Given the description of an element on the screen output the (x, y) to click on. 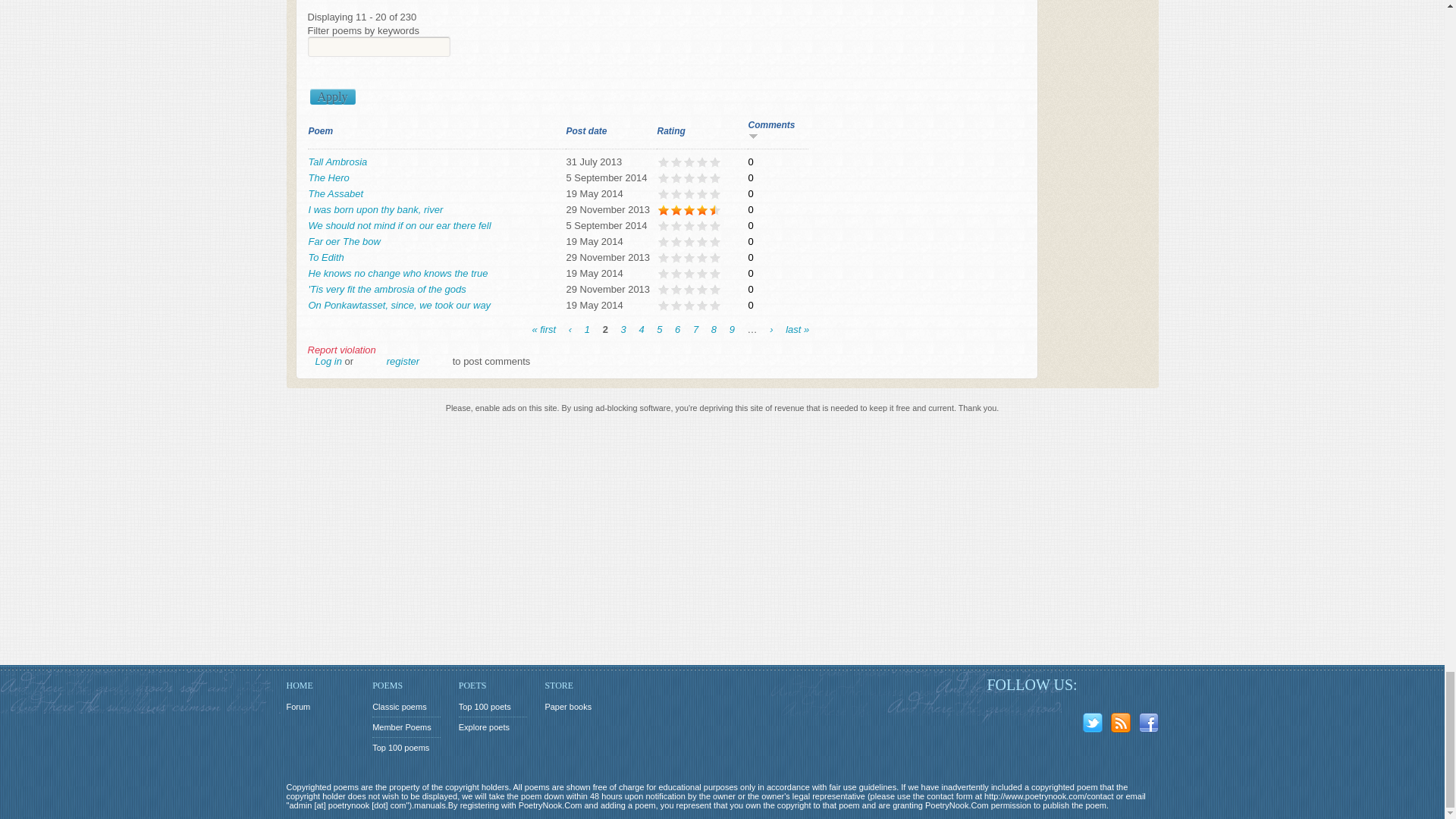
8 (713, 328)
sort by Post date (586, 131)
3 (623, 328)
Poem (320, 131)
sort by Poem (320, 131)
We should not mind if on our ear there fell (398, 225)
Go to page 3 (623, 328)
1 (587, 328)
sort ascending (752, 135)
Go to page 5 (659, 328)
On Ponkawtasset, since, we took our way (398, 305)
To Edith (325, 256)
sort by Comments (771, 130)
4 (641, 328)
9 (732, 328)
